Given the description of an element on the screen output the (x, y) to click on. 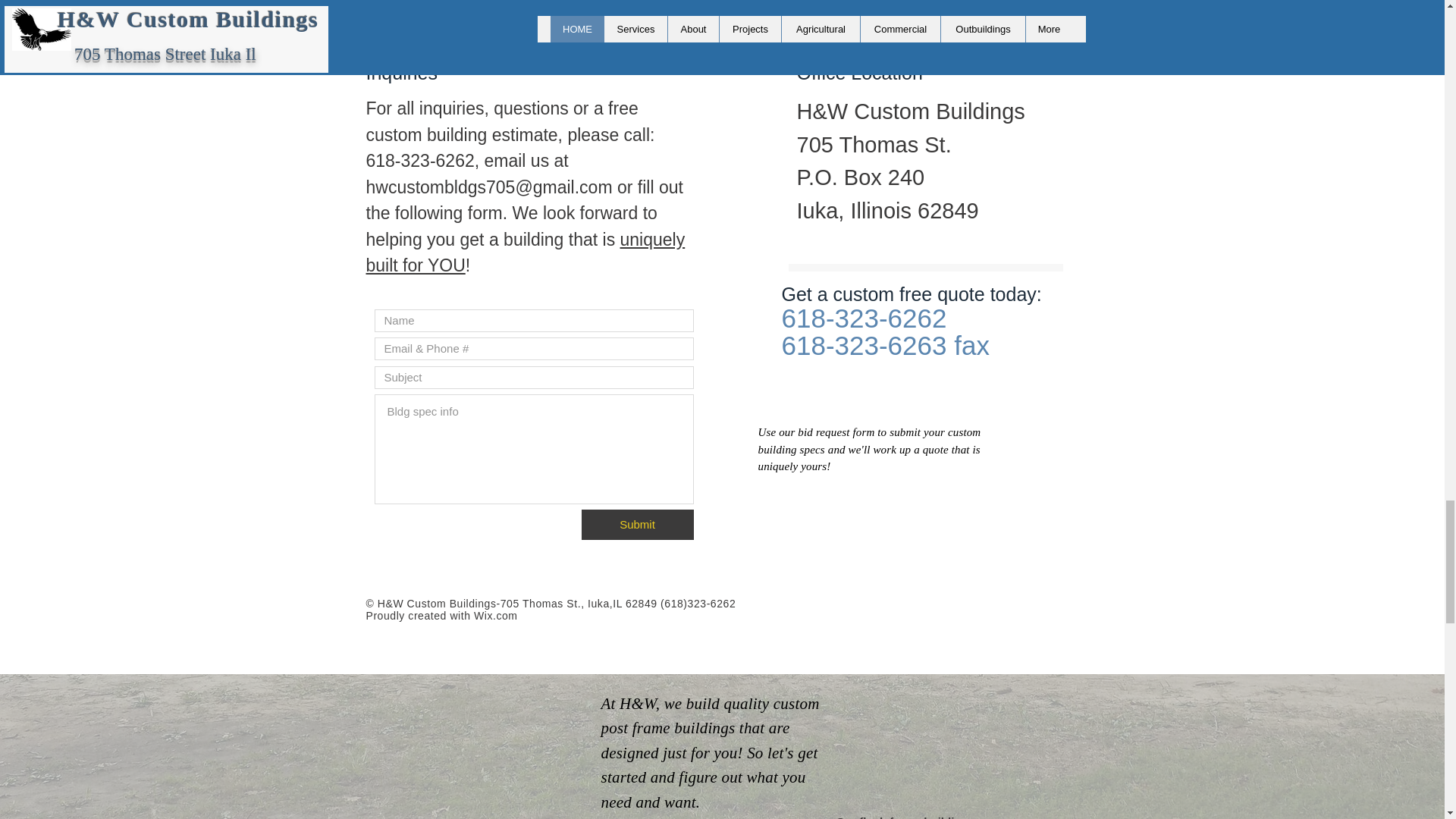
Wix.com (496, 615)
Submit (636, 524)
